Given the description of an element on the screen output the (x, y) to click on. 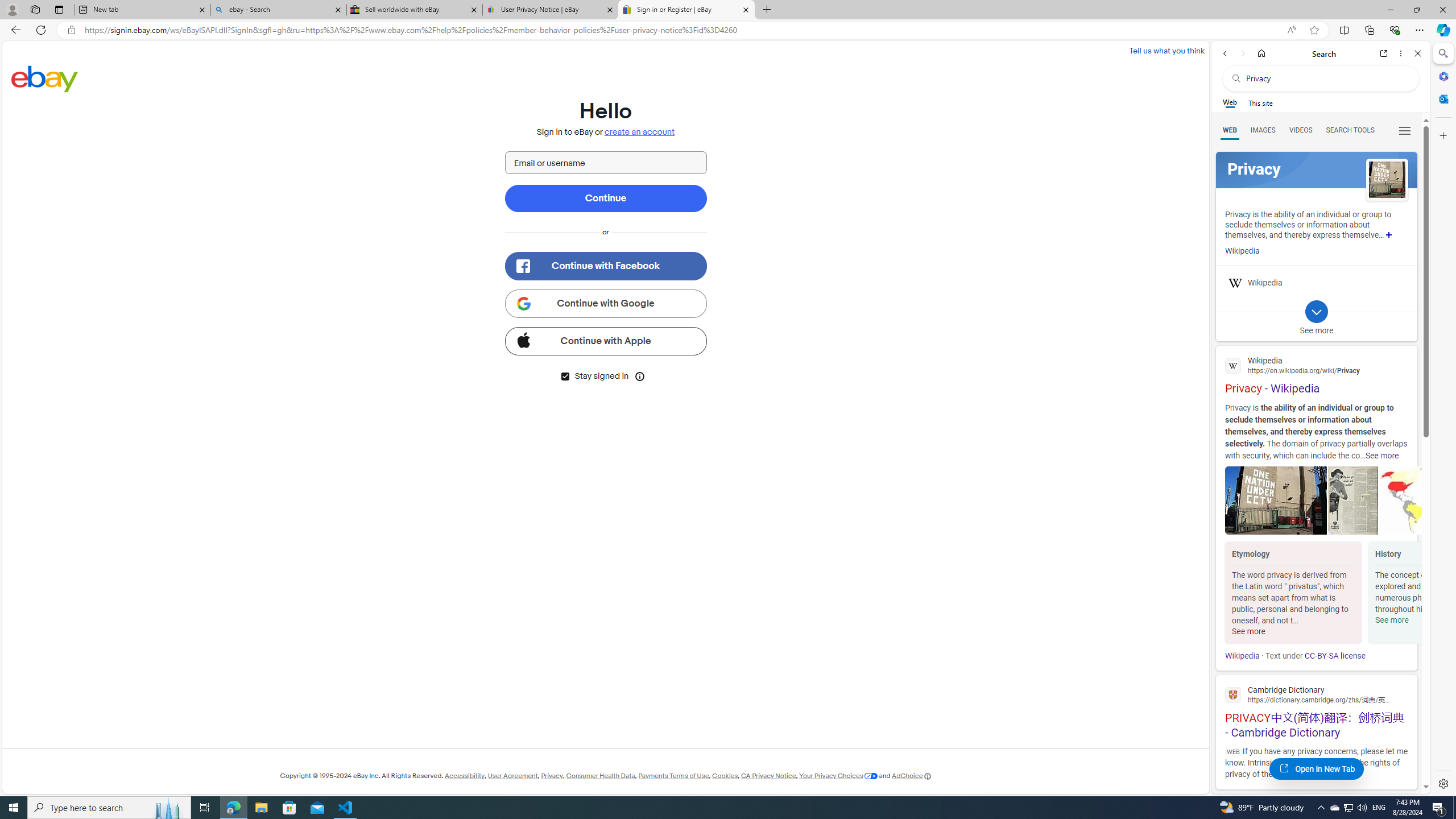
See more images of Privacy (1386, 179)
Search Filter, VIDEOS (1300, 129)
Accessibility (464, 775)
Stay signed in (564, 376)
Class: spl_logobg (1315, 169)
User Privacy Notice | eBay (550, 9)
Consumer Health Data (600, 775)
Search Filter, Search Tools (1350, 129)
